Given the description of an element on the screen output the (x, y) to click on. 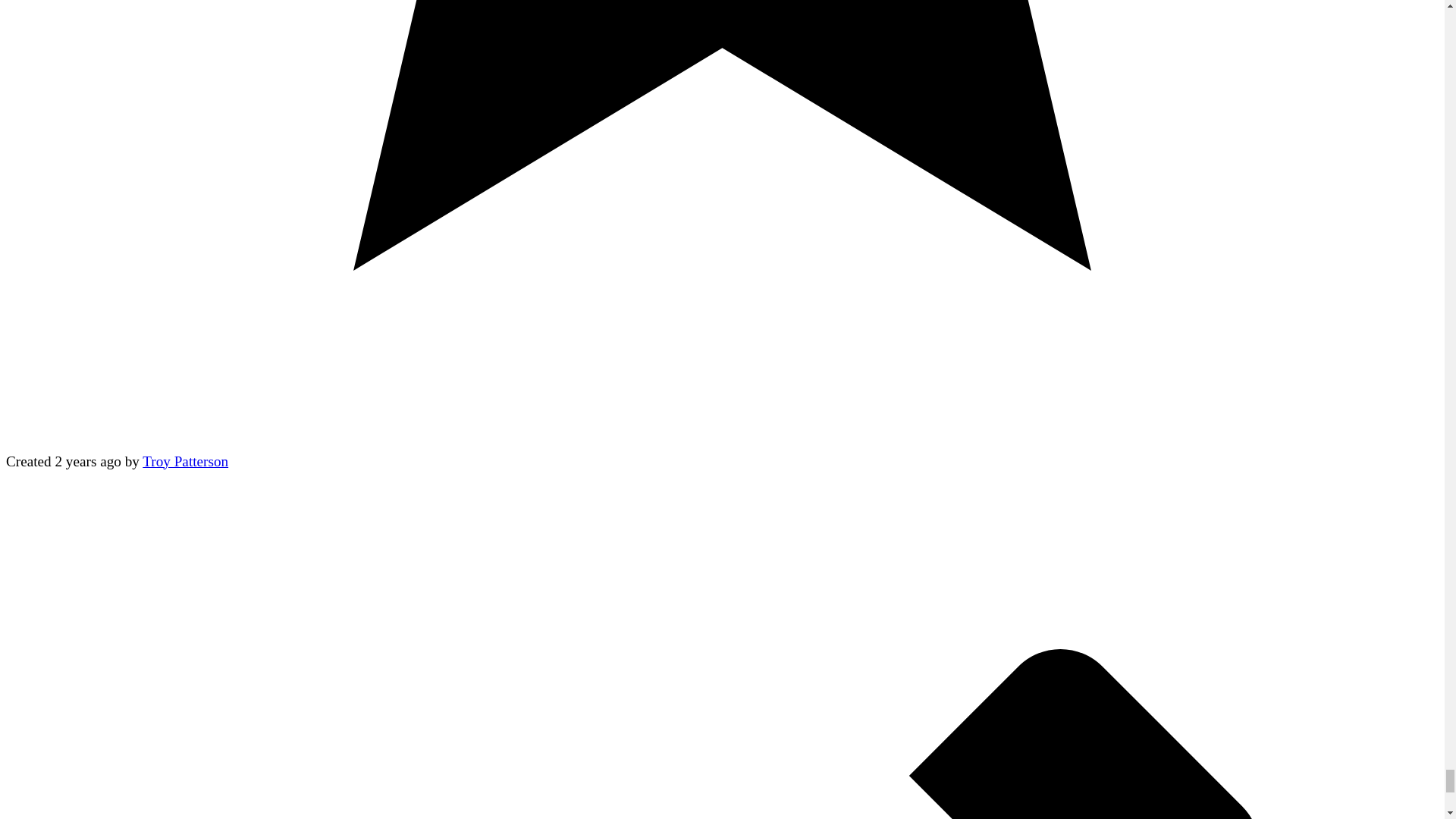
Tue, Oct 12, 2021 10:58 PM (87, 461)
